Given the description of an element on the screen output the (x, y) to click on. 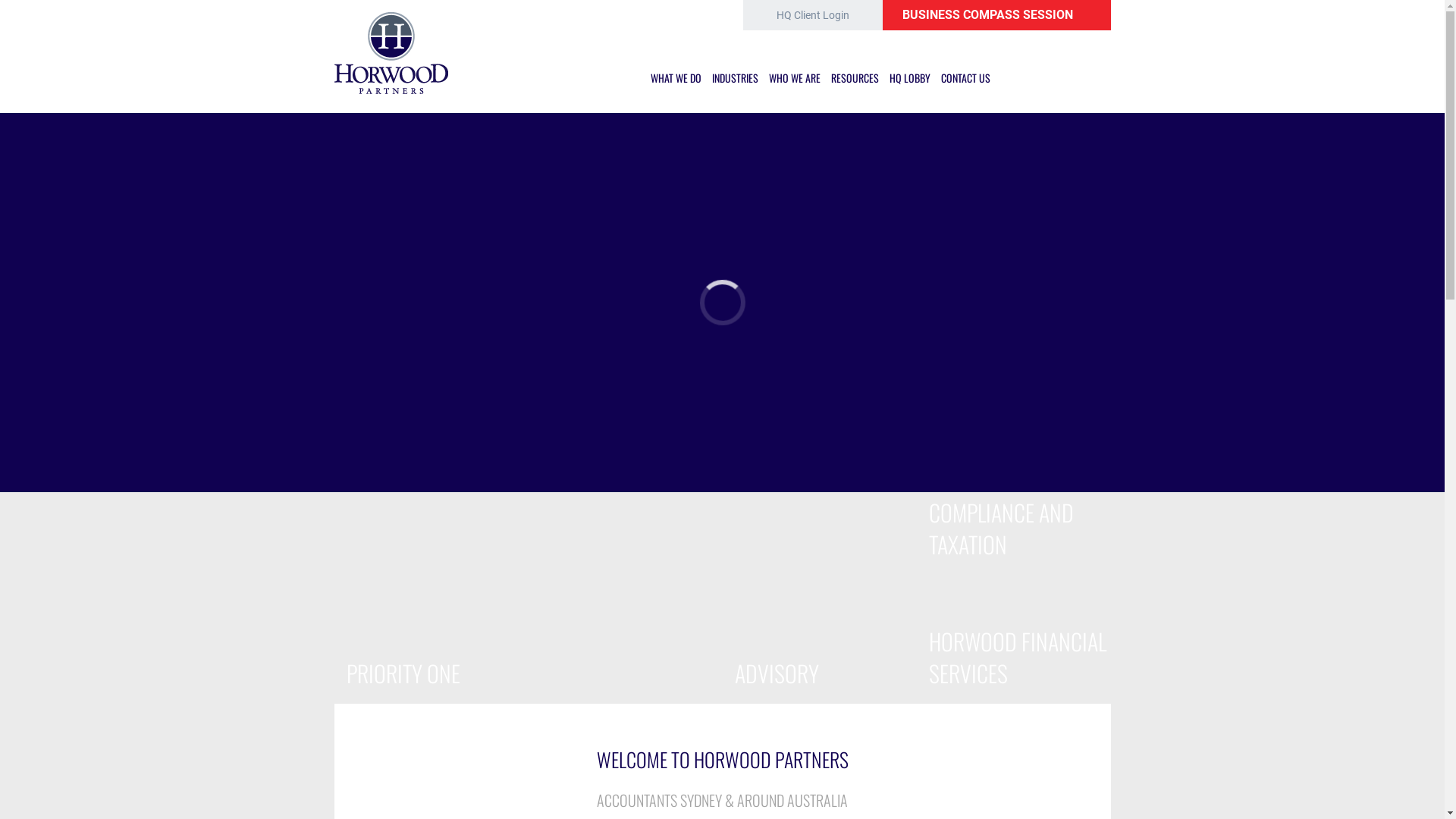
Horwood Partners Element type: hover (390, 9)
CONTACT US Element type: text (965, 78)
HQ LOBBY Element type: text (909, 78)
WHAT WE DO Element type: text (675, 78)
INDUSTRIES Element type: text (734, 78)
HQ Client Login Element type: text (812, 15)
BUSINESS COMPASS SESSION Element type: text (996, 15)
RESOURCES Element type: text (854, 78)
WHO WE ARE Element type: text (794, 78)
